Given the description of an element on the screen output the (x, y) to click on. 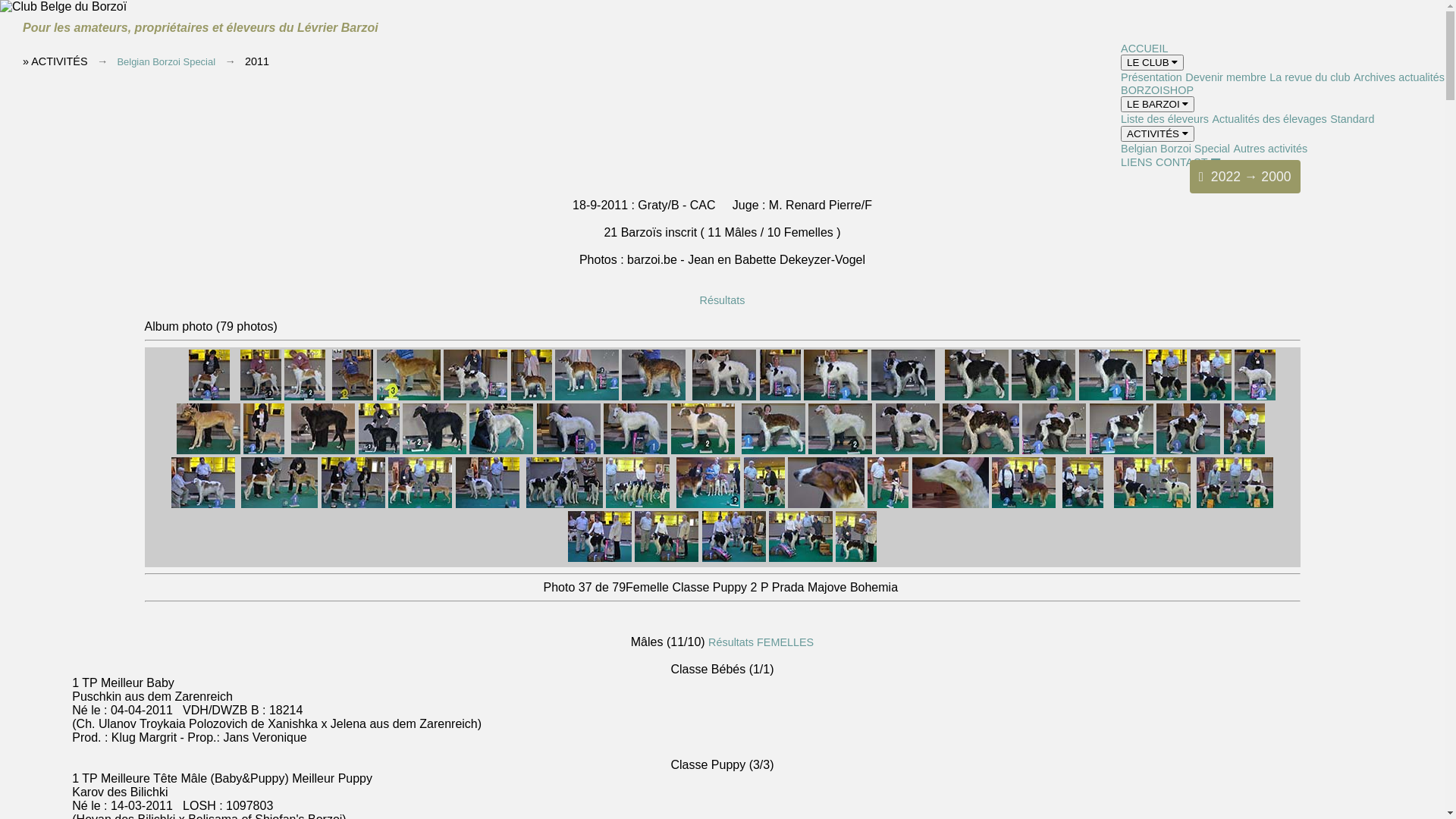
agrandir Element type: hover (855, 558)
La revue du club Element type: text (1309, 77)
agrandir Element type: hover (903, 396)
agrandir Element type: hover (279, 504)
agrandir Element type: hover (475, 396)
agrandir Element type: hover (1234, 504)
agrandir Element type: hover (773, 450)
LIENS Element type: text (1136, 162)
agrandir Element type: hover (835, 396)
Standard Element type: text (1352, 118)
agrandir Element type: hover (1082, 504)
agrandir Element type: hover (1023, 504)
agrandir Element type: hover (304, 396)
agrandir Element type: hover (1110, 396)
agrandir Element type: hover (708, 504)
agrandir Element type: hover (434, 450)
agrandir Element type: hover (260, 396)
agrandir Element type: hover (1210, 396)
agrandir Element type: hover (1043, 396)
agrandir Element type: hover (599, 558)
agrandir Element type: hover (1121, 450)
agrandir Element type: hover (666, 558)
agrandir Element type: hover (208, 450)
agrandir Element type: hover (1165, 396)
agrandir Element type: hover (1254, 396)
agrandir Element type: hover (763, 504)
agrandir Element type: hover (637, 504)
agrandir Element type: hover (1243, 450)
agrandir Element type: hover (1188, 450)
agrandir Element type: hover (377, 450)
agrandir Element type: hover (568, 450)
agrandir Element type: hover (408, 396)
Belgian Borzoi Special Element type: text (165, 61)
agrandir Element type: hover (825, 504)
LE CLUB Element type: text (1151, 62)
agrandir Element type: hover (800, 558)
LE BARZOI Element type: text (1157, 104)
agrandir Element type: hover (724, 396)
ACCUEIL Element type: text (1143, 48)
agrandir Element type: hover (907, 450)
agrandir Element type: hover (501, 450)
agrandir Element type: hover (586, 396)
agrandir Element type: hover (950, 504)
agrandir Element type: hover (419, 504)
agrandir Element type: hover (322, 450)
agrandir Element type: hover (352, 396)
agrandir Element type: hover (733, 558)
Belgian Borzoi Special Element type: text (1175, 148)
agrandir Element type: hover (702, 450)
CONTACT Element type: text (1181, 162)
agrandir Element type: hover (564, 504)
agrandir Element type: hover (976, 396)
agrandir Element type: hover (208, 396)
agrandir Element type: hover (531, 396)
Devenir membre Element type: text (1225, 77)
agrandir Element type: hover (203, 504)
agrandir Element type: hover (779, 396)
agrandir Element type: hover (653, 396)
BORZOISHOP Element type: text (1156, 90)
agrandir Element type: hover (980, 450)
agrandir Element type: hover (887, 504)
agrandir Element type: hover (840, 450)
agrandir Element type: hover (1053, 450)
agrandir Element type: hover (263, 450)
agrandir Element type: hover (635, 450)
agrandir Element type: hover (353, 504)
agrandir Element type: hover (1151, 504)
agrandir Element type: hover (487, 504)
